Given the description of an element on the screen output the (x, y) to click on. 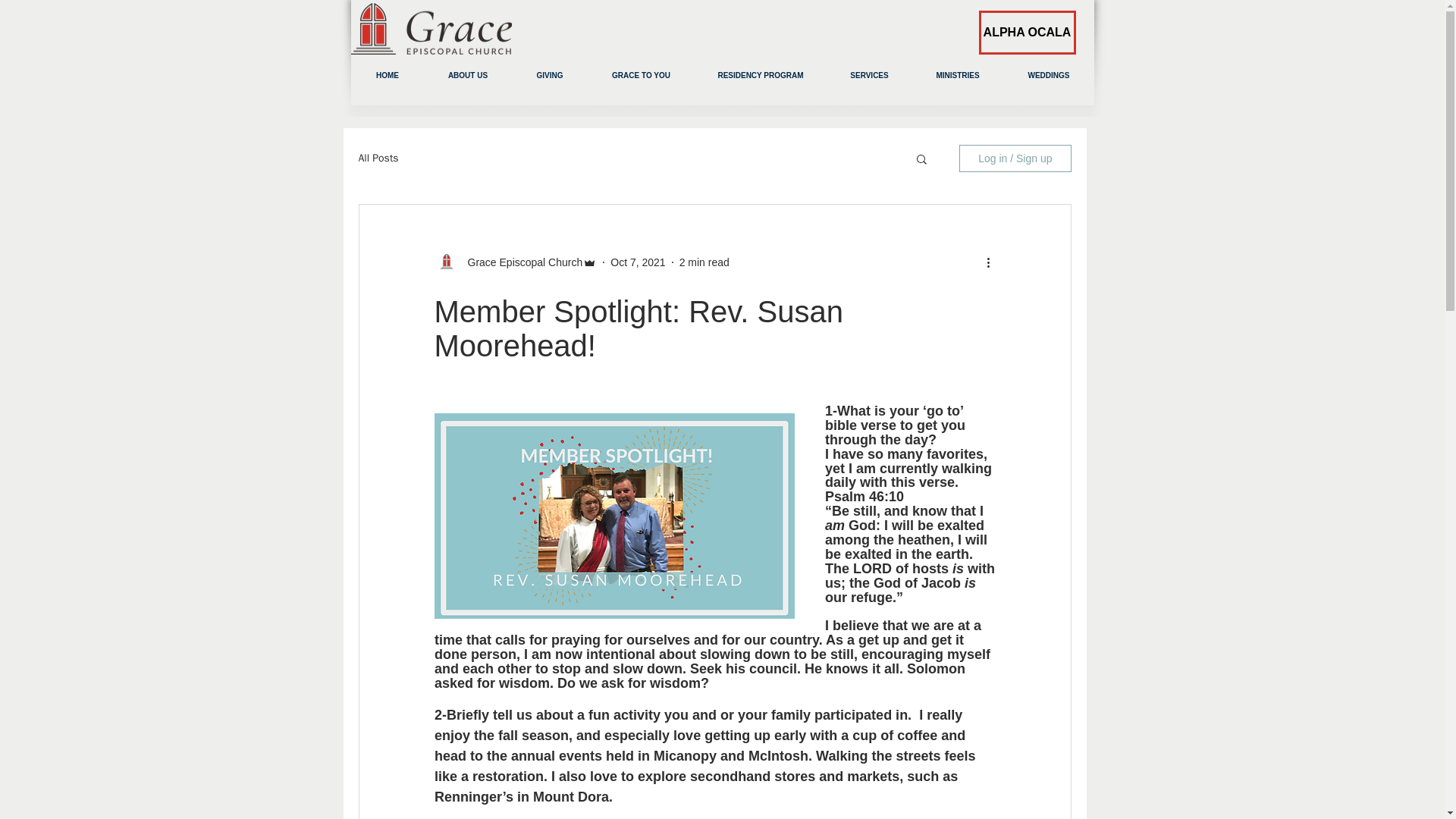
ABOUT US (468, 74)
Oct 7, 2021 (637, 262)
ALPHA OCALA (1026, 32)
RESIDENCY PROGRAM (760, 74)
HOME (386, 74)
2 min read (704, 262)
GRACE TO YOU (641, 74)
MINISTRIES (957, 74)
SERVICES (869, 74)
GIVING (549, 74)
